Given the description of an element on the screen output the (x, y) to click on. 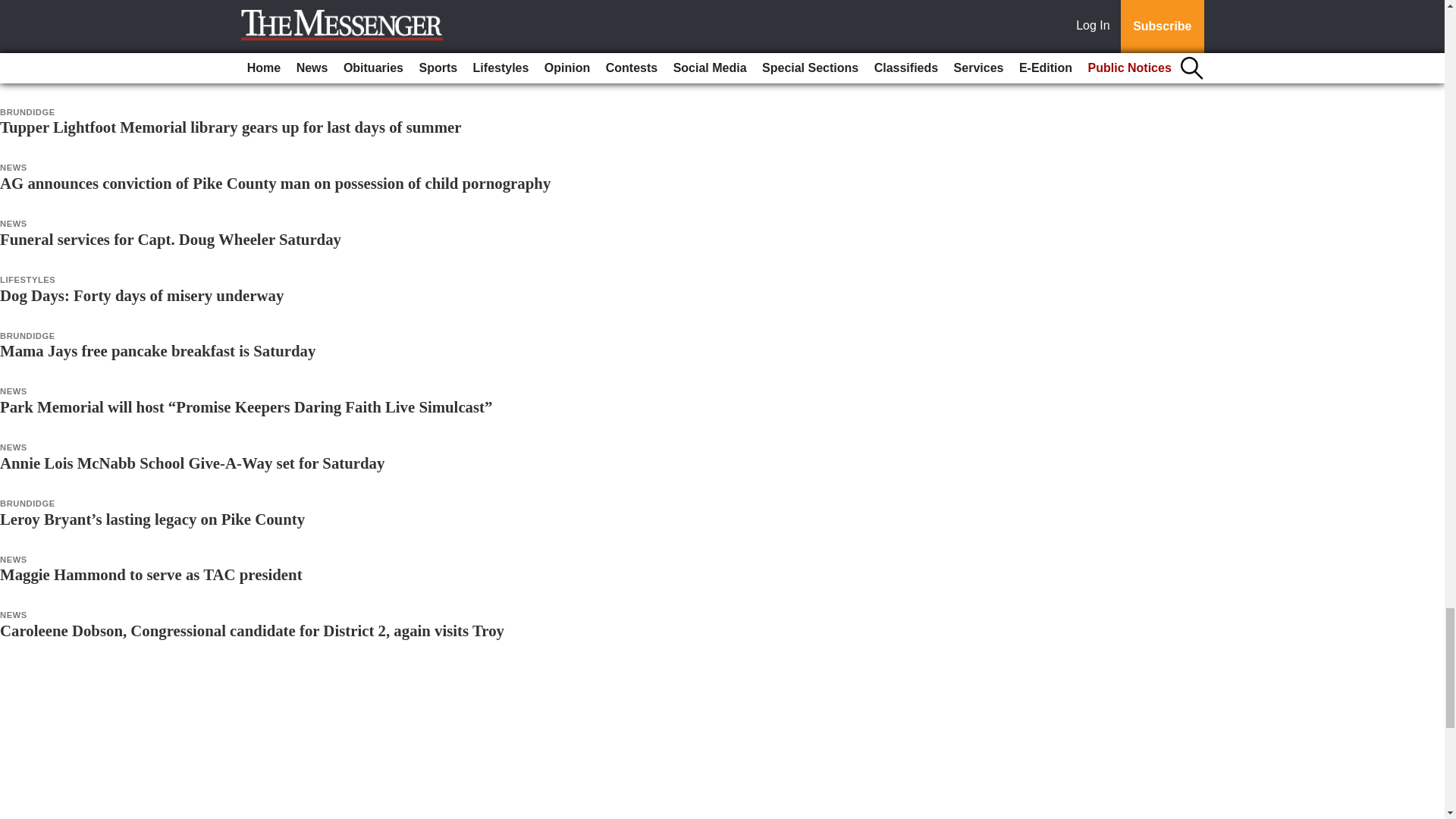
Farm-City nominations are open (110, 71)
Funeral services for Capt. Doug Wheeler Saturday (170, 239)
